Given the description of an element on the screen output the (x, y) to click on. 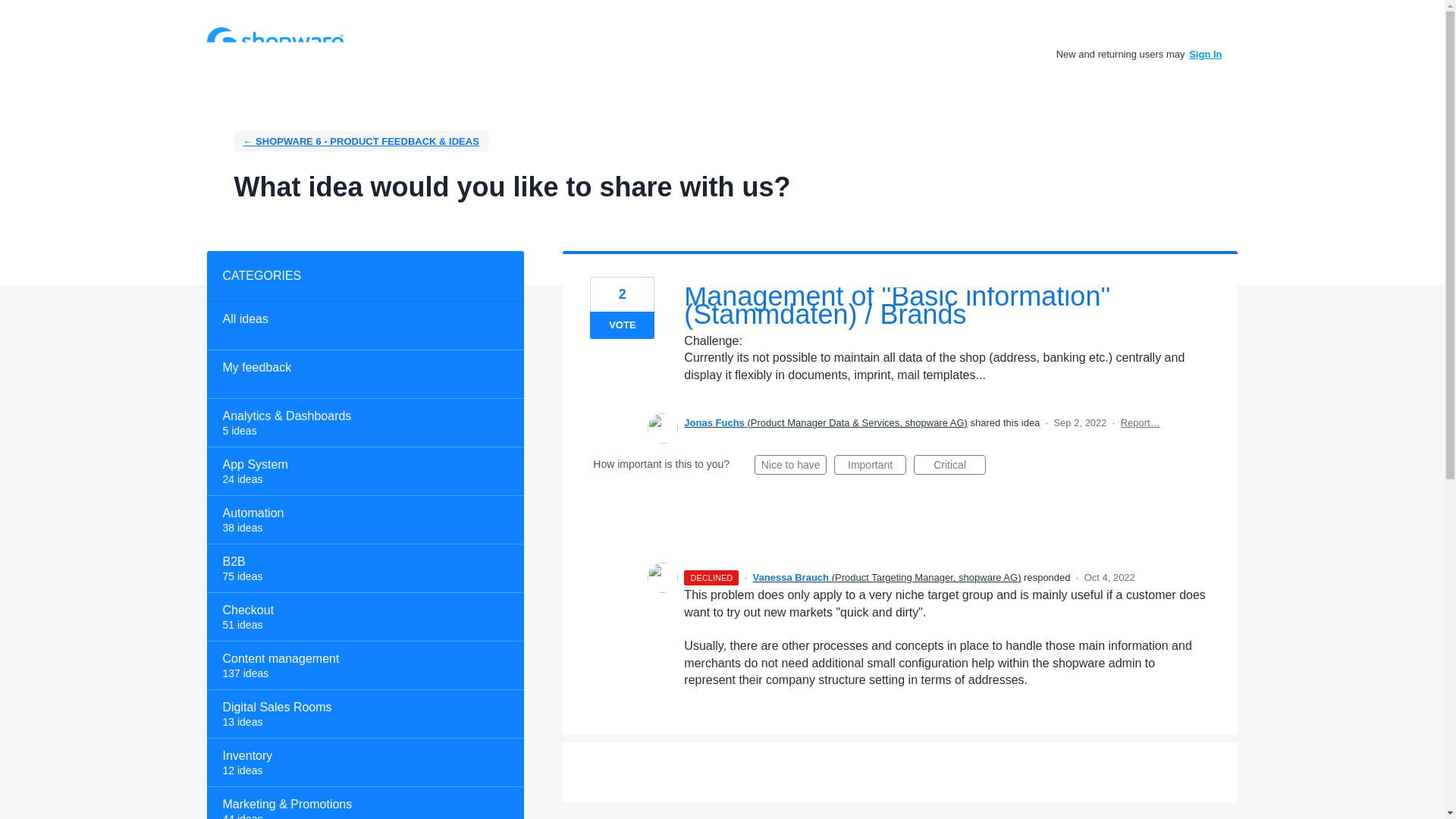
Have an idea? Share it! (274, 41)
Skip to content (12, 12)
Content management (364, 665)
View all ideas in category Automation (364, 520)
My feedback (364, 374)
View all ideas in category Digital Sales Rooms (364, 714)
Automation (364, 520)
View all ideas in category Checkout (364, 616)
VOTE (621, 325)
App System (364, 471)
